Given the description of an element on the screen output the (x, y) to click on. 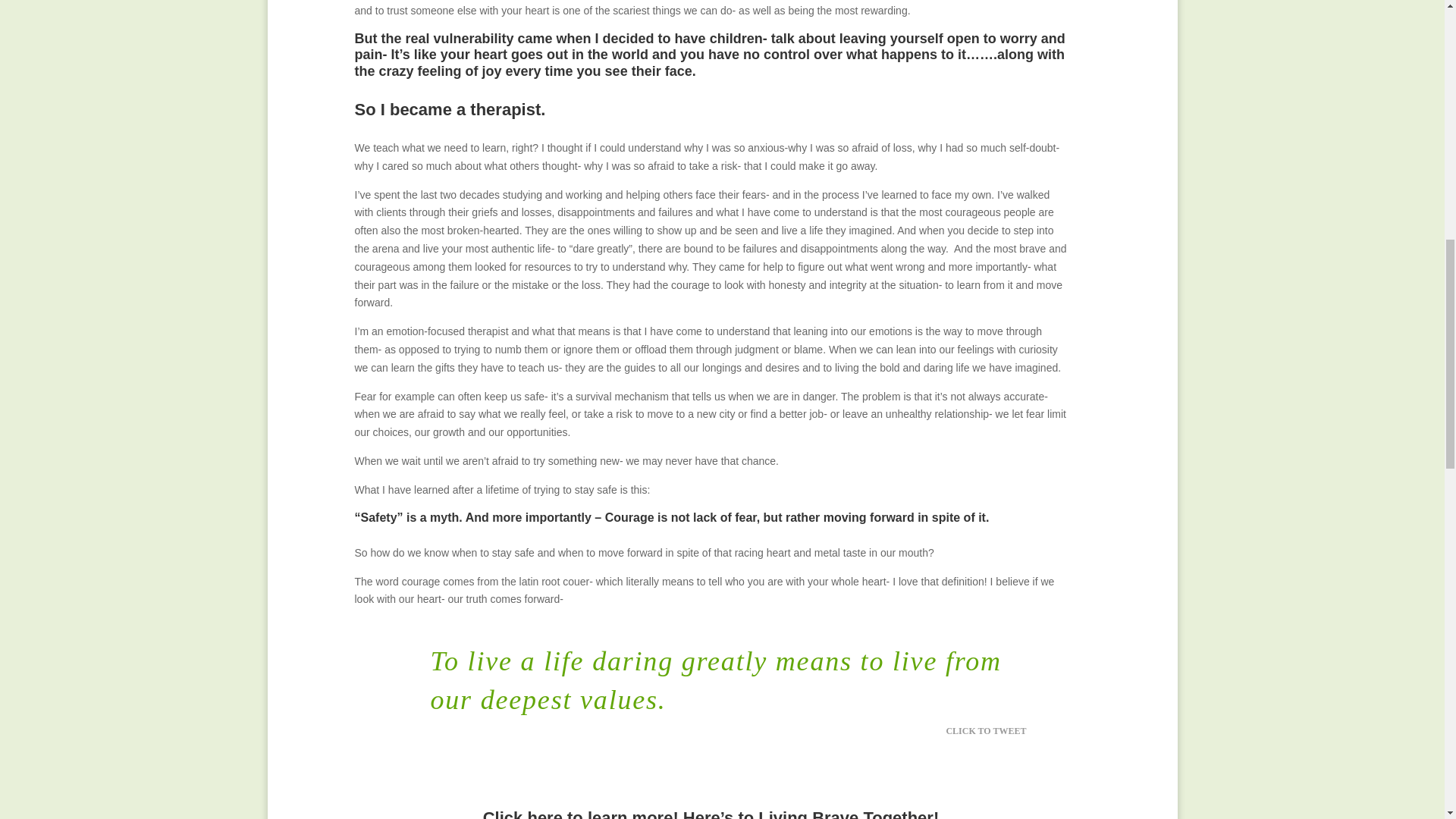
CLICK TO TWEET (993, 730)
here (544, 813)
